Given the description of an element on the screen output the (x, y) to click on. 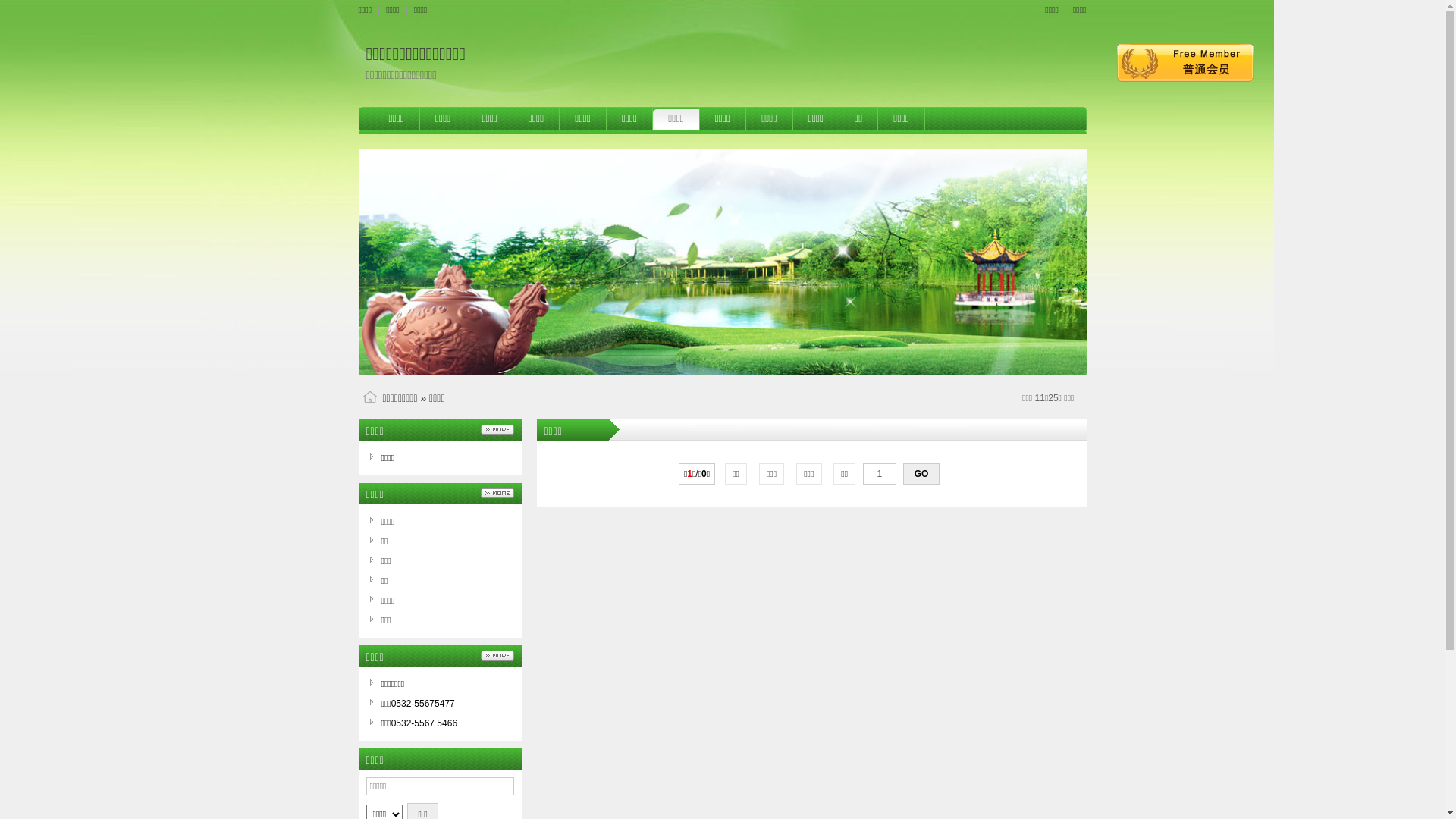
GO Element type: text (921, 473)
